Given the description of an element on the screen output the (x, y) to click on. 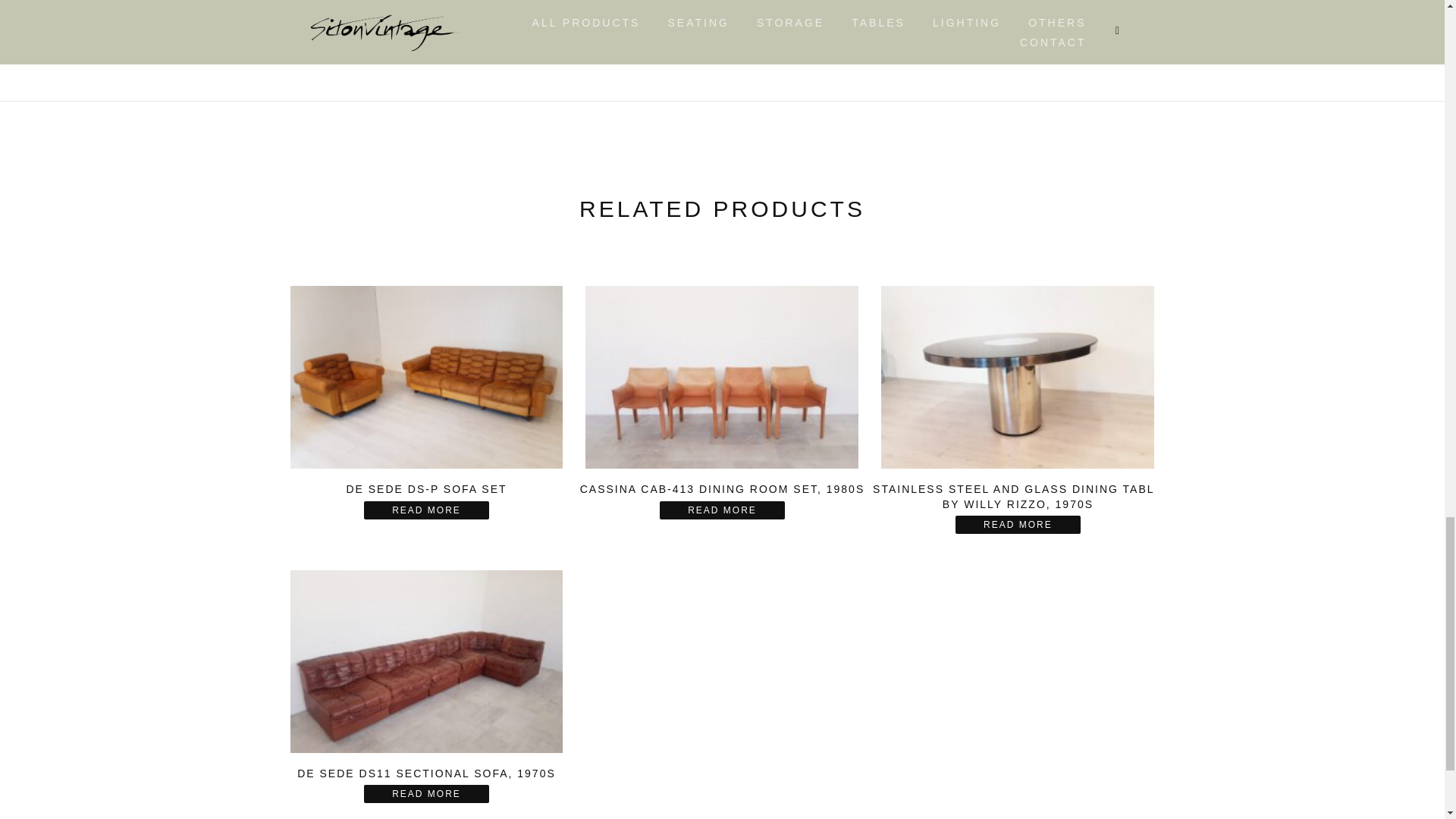
READ MORE (1017, 524)
Cassina CAB 413 (721, 376)
CASSINA CAB-413 DINING ROOM SET, 1980S (721, 399)
STAINLESS STEEL AND GLASS DINING TABLE BY WILLY RIZZO, 1970S (1017, 407)
READ MORE (426, 510)
De Sede DS11 (427, 661)
READ MORE (721, 510)
DE SEDE DS-P SOFA SET (427, 399)
DE SEDE DS11 SECTIONAL SOFA, 1970S (427, 684)
READ MORE (426, 793)
